Given the description of an element on the screen output the (x, y) to click on. 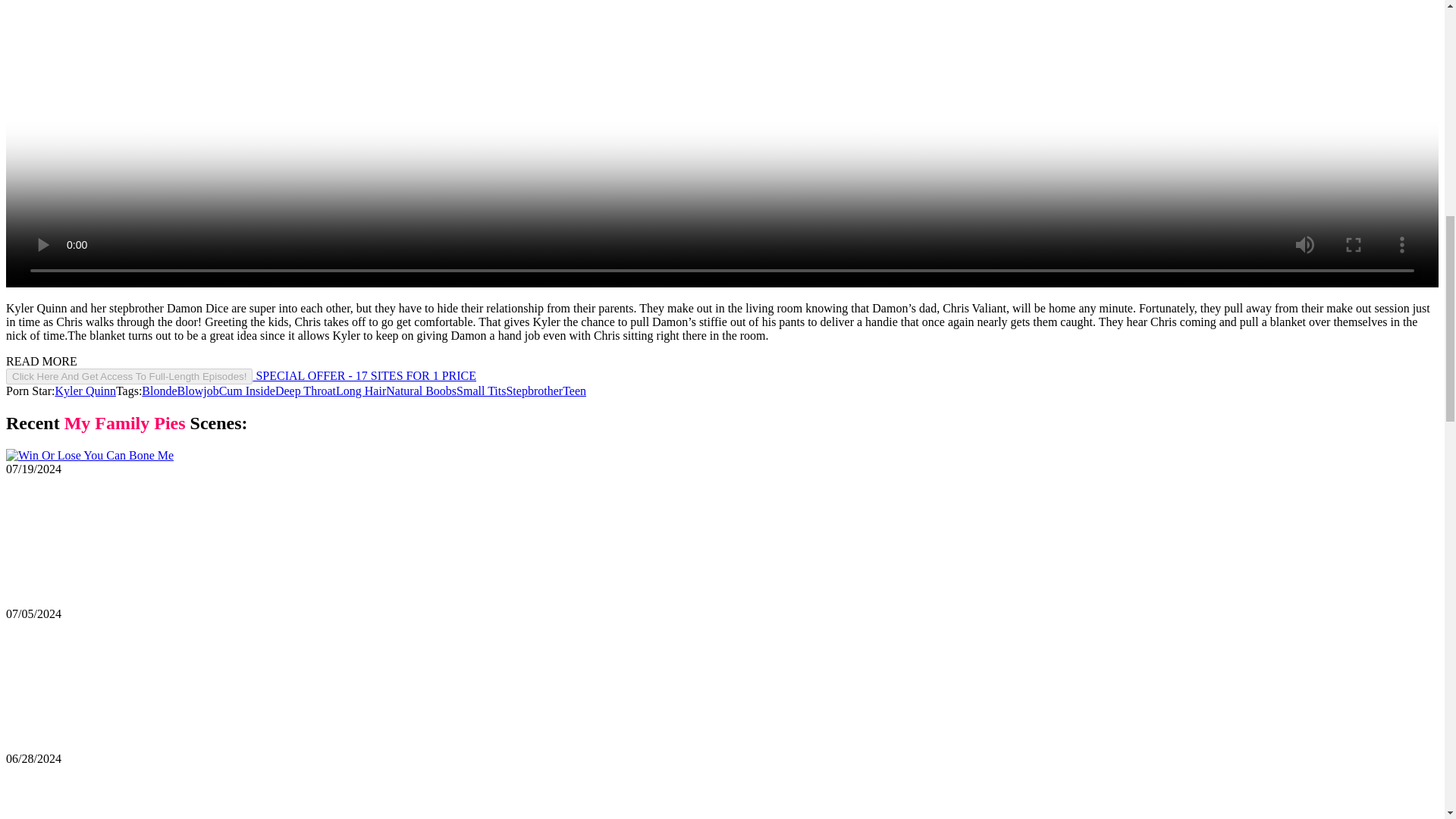
Click Here And Get Access To Full-Length Episodes! (128, 376)
Long Hair (360, 390)
Blowjob (198, 390)
Blonde (158, 390)
Small Tits (481, 390)
Natural Boobs (421, 390)
Kyler Quinn (85, 390)
Join now to download The Full-Length Videos! (240, 375)
Teen (574, 390)
Deep Throat (305, 390)
Stepbrother (533, 390)
Cum Inside (247, 390)
